Given the description of an element on the screen output the (x, y) to click on. 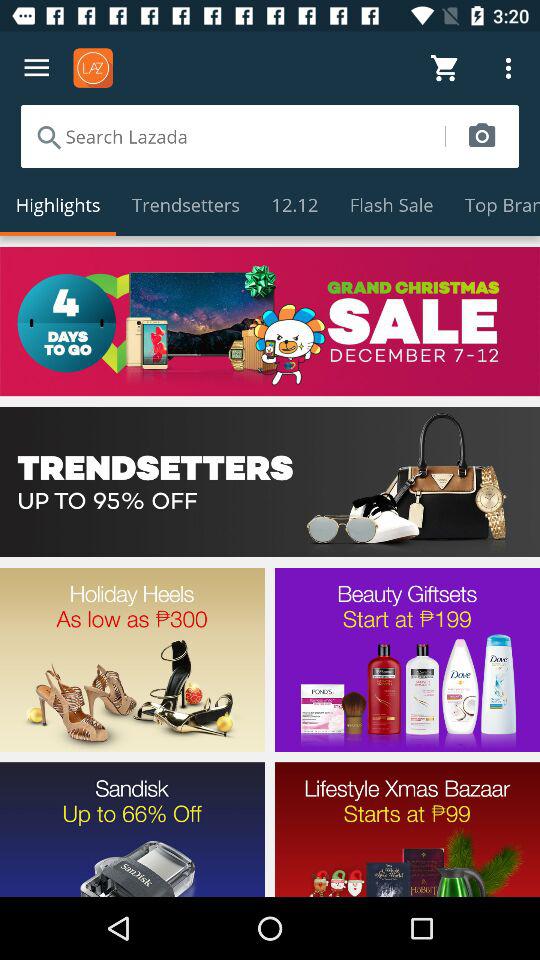
options (36, 68)
